Given the description of an element on the screen output the (x, y) to click on. 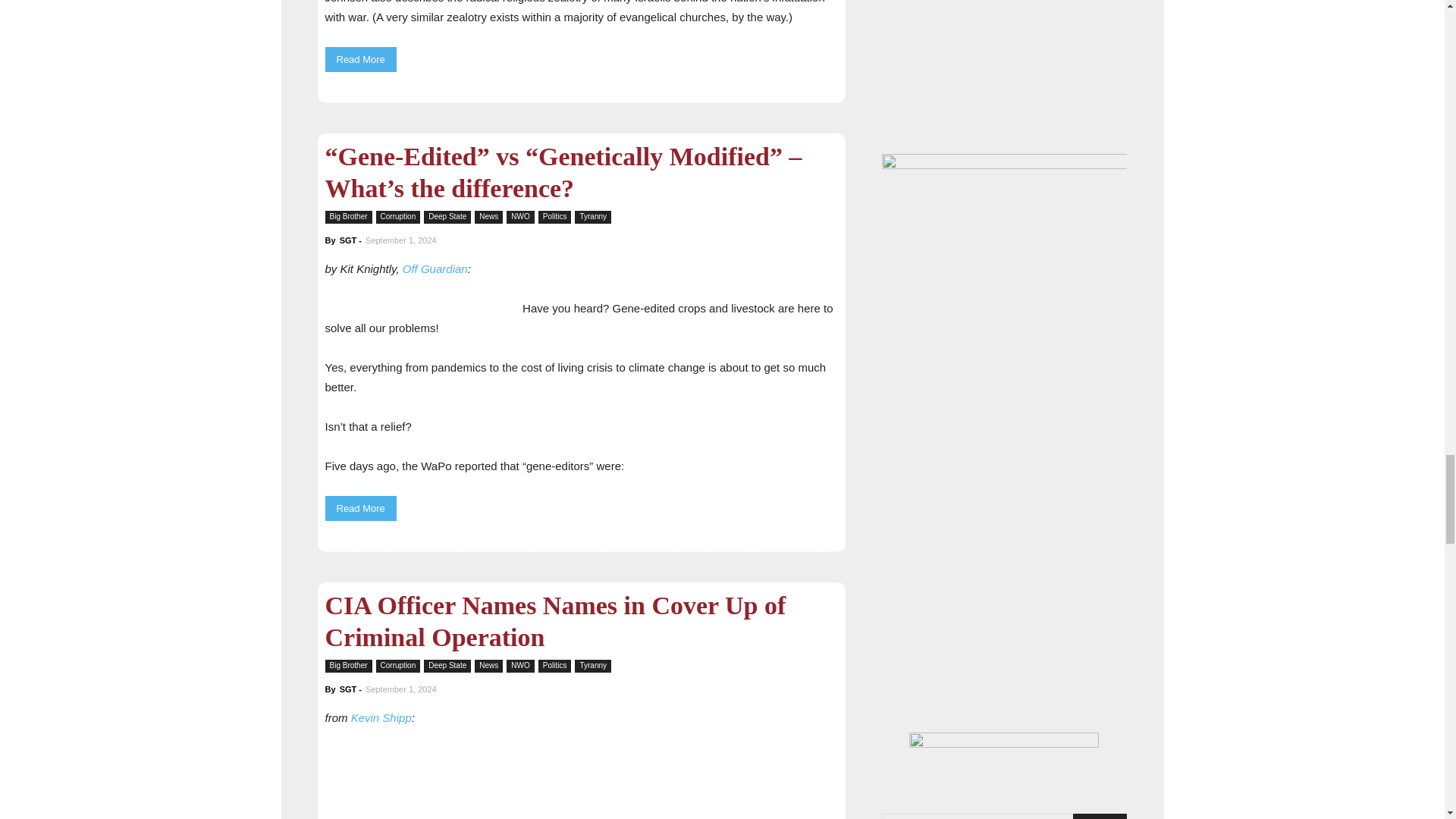
CIA Officer Names Names in Cover Up of Criminal Operation (555, 621)
Search (1099, 816)
CIA Officer Names Names in Cover Up of Criminal Operation (580, 783)
